Given the description of an element on the screen output the (x, y) to click on. 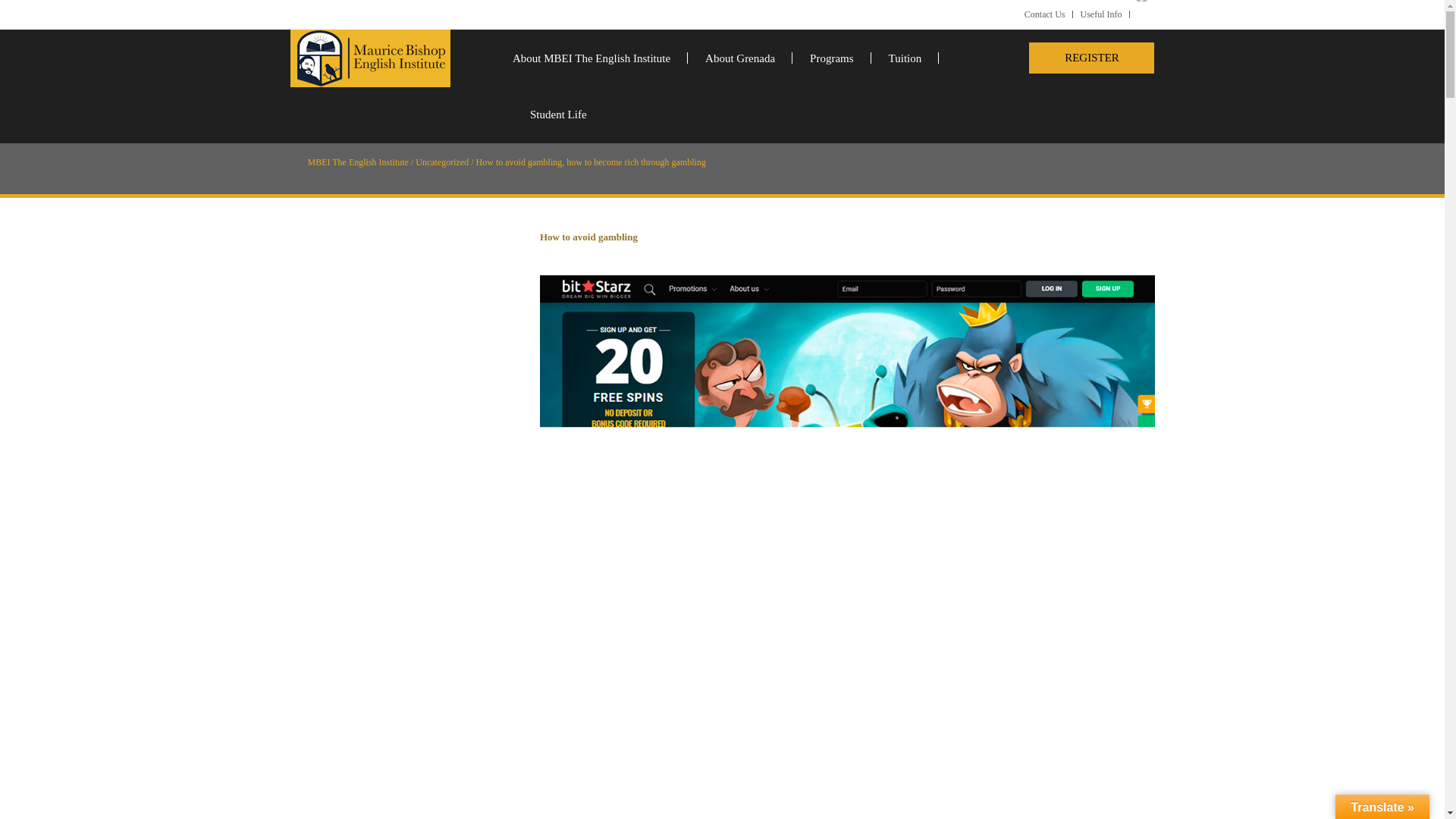
Programs (831, 58)
Contact Us (1045, 14)
How to avoid gambling (588, 236)
About Grenada (739, 58)
Tuition (904, 58)
REGISTER (1091, 57)
Go to MBEI The English Institute. (358, 162)
Student Life (549, 114)
Useful Info (1101, 14)
MBEI The English Institute (358, 162)
